Given the description of an element on the screen output the (x, y) to click on. 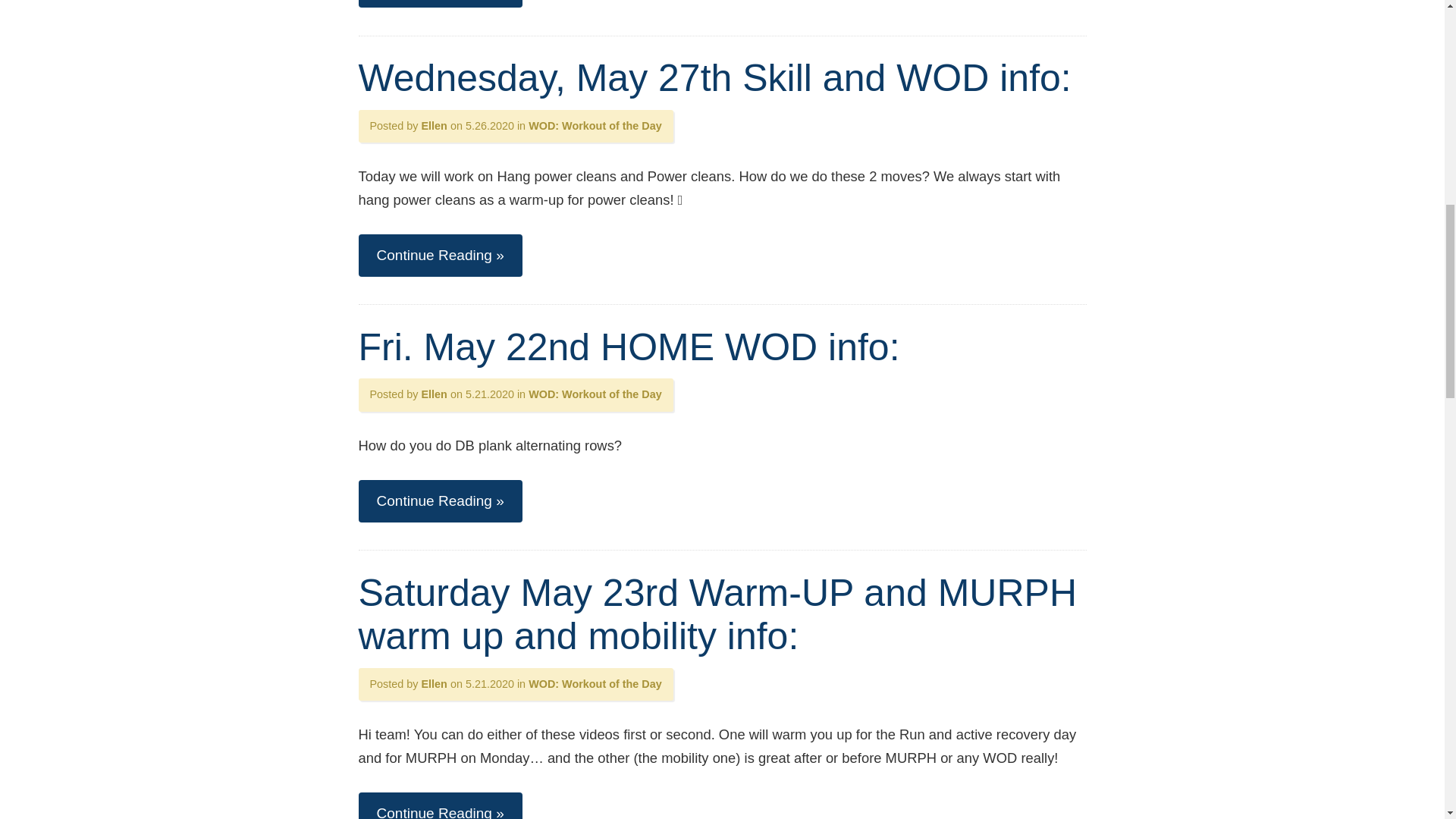
Posts by Ellen (434, 125)
WOD: Workout of the Day (595, 684)
WOD: Workout of the Day (595, 394)
Posts by Ellen (434, 394)
Posts by Ellen (434, 684)
WOD: Workout of the Day (595, 125)
Ellen (434, 125)
Fri. May 22nd HOME WOD info: (628, 346)
Ellen (434, 684)
Ellen (434, 394)
